Given the description of an element on the screen output the (x, y) to click on. 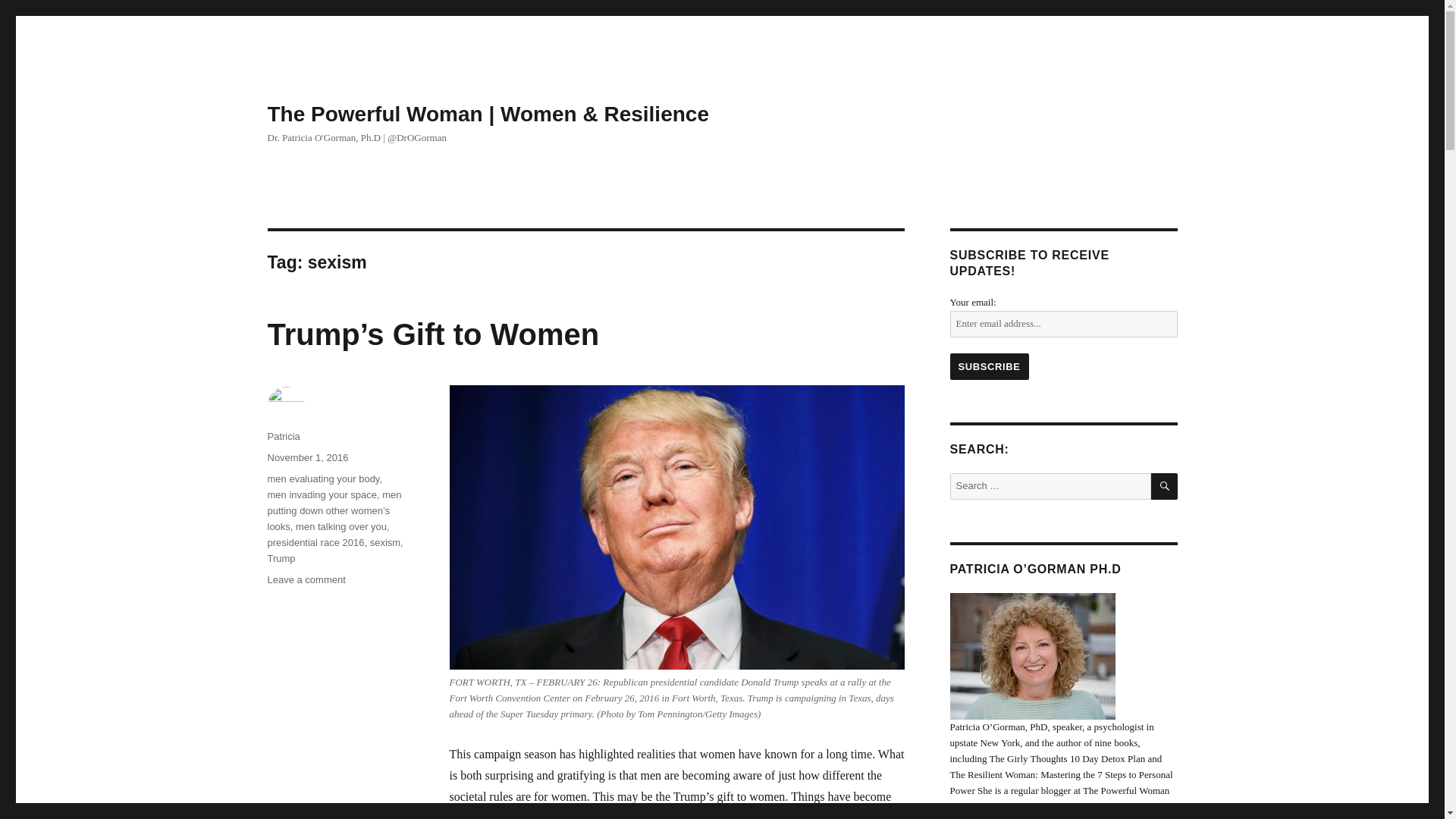
sexism (384, 542)
November 1, 2016 (306, 457)
presidential race 2016 (315, 542)
Enter email address... (1062, 324)
men evaluating your body (322, 478)
men talking over you (341, 526)
men invading your space (321, 494)
Patricia (282, 436)
Subscribe (988, 366)
Trump (280, 558)
